Given the description of an element on the screen output the (x, y) to click on. 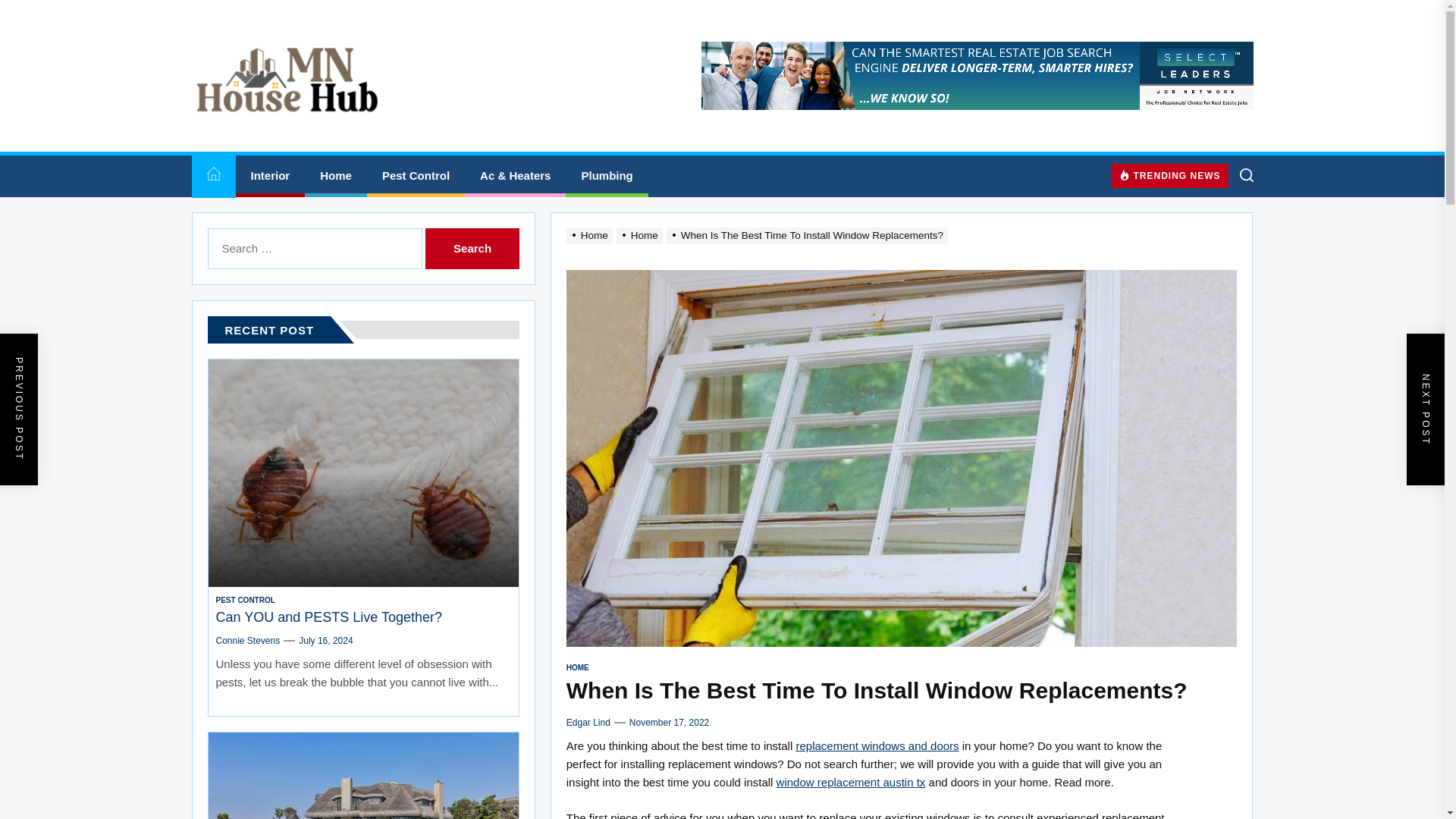
Can YOU and PESTS Live Together? (328, 616)
Search (471, 248)
MN House Hub (319, 143)
Home (212, 176)
Plumbing (606, 176)
Header AD Image (976, 75)
Pest Control (415, 176)
Search (471, 248)
Interior (269, 176)
Home (335, 176)
TRENDING NEWS (1170, 175)
